Given the description of an element on the screen output the (x, y) to click on. 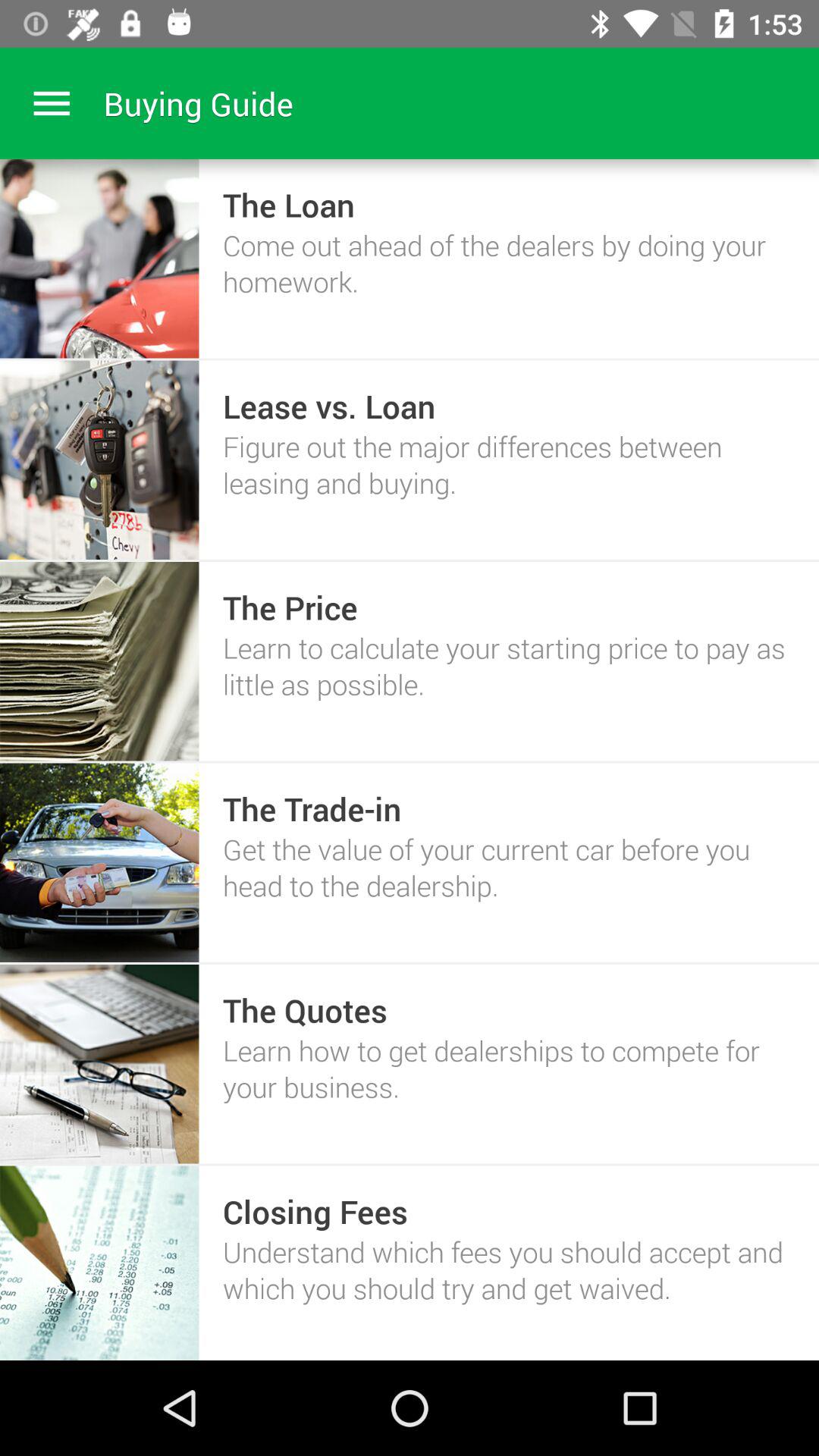
menu (51, 103)
